Given the description of an element on the screen output the (x, y) to click on. 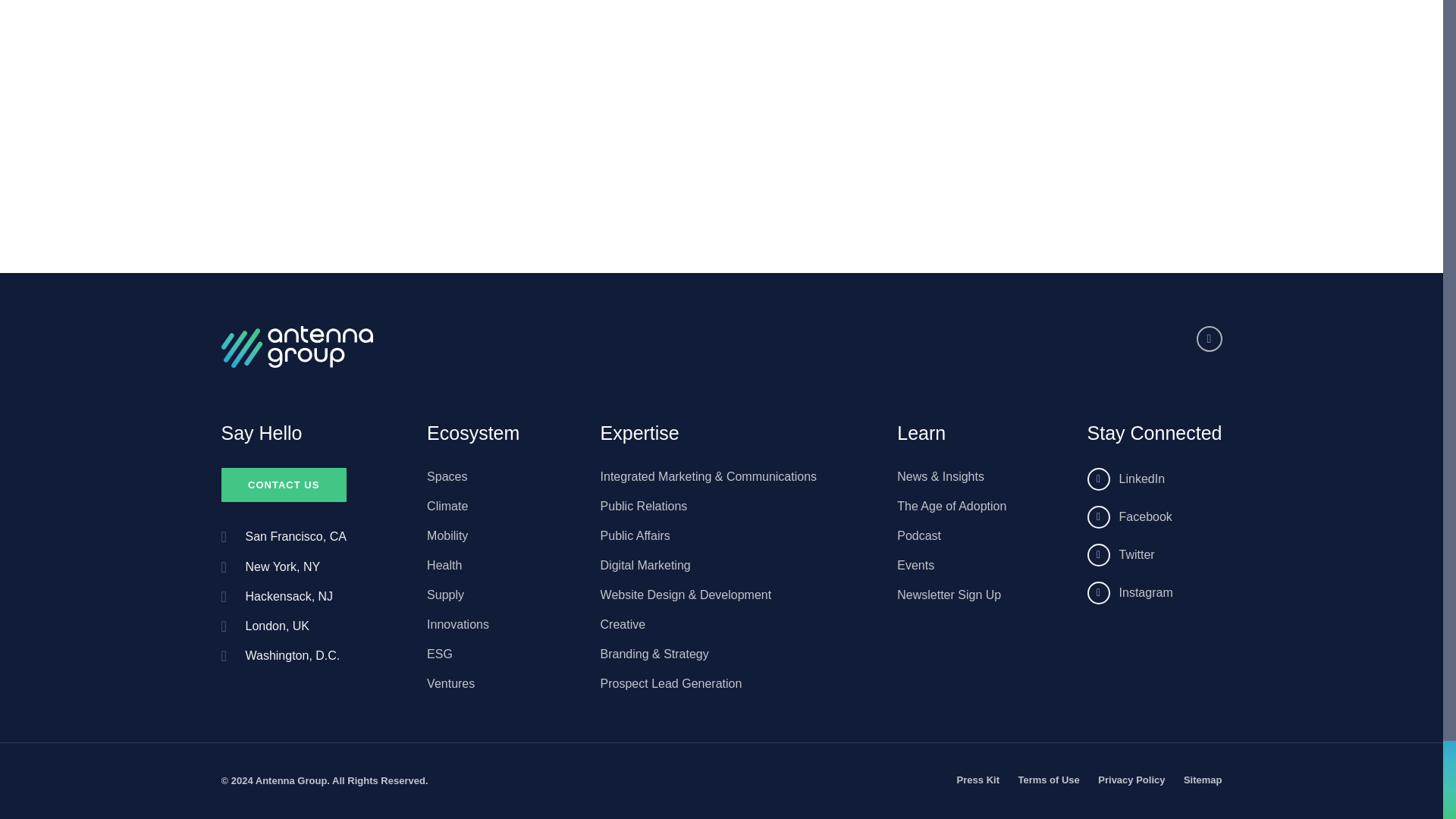
facebook (1155, 517)
linkedin (1155, 478)
instagram (1155, 592)
twitter (1155, 554)
